Given the description of an element on the screen output the (x, y) to click on. 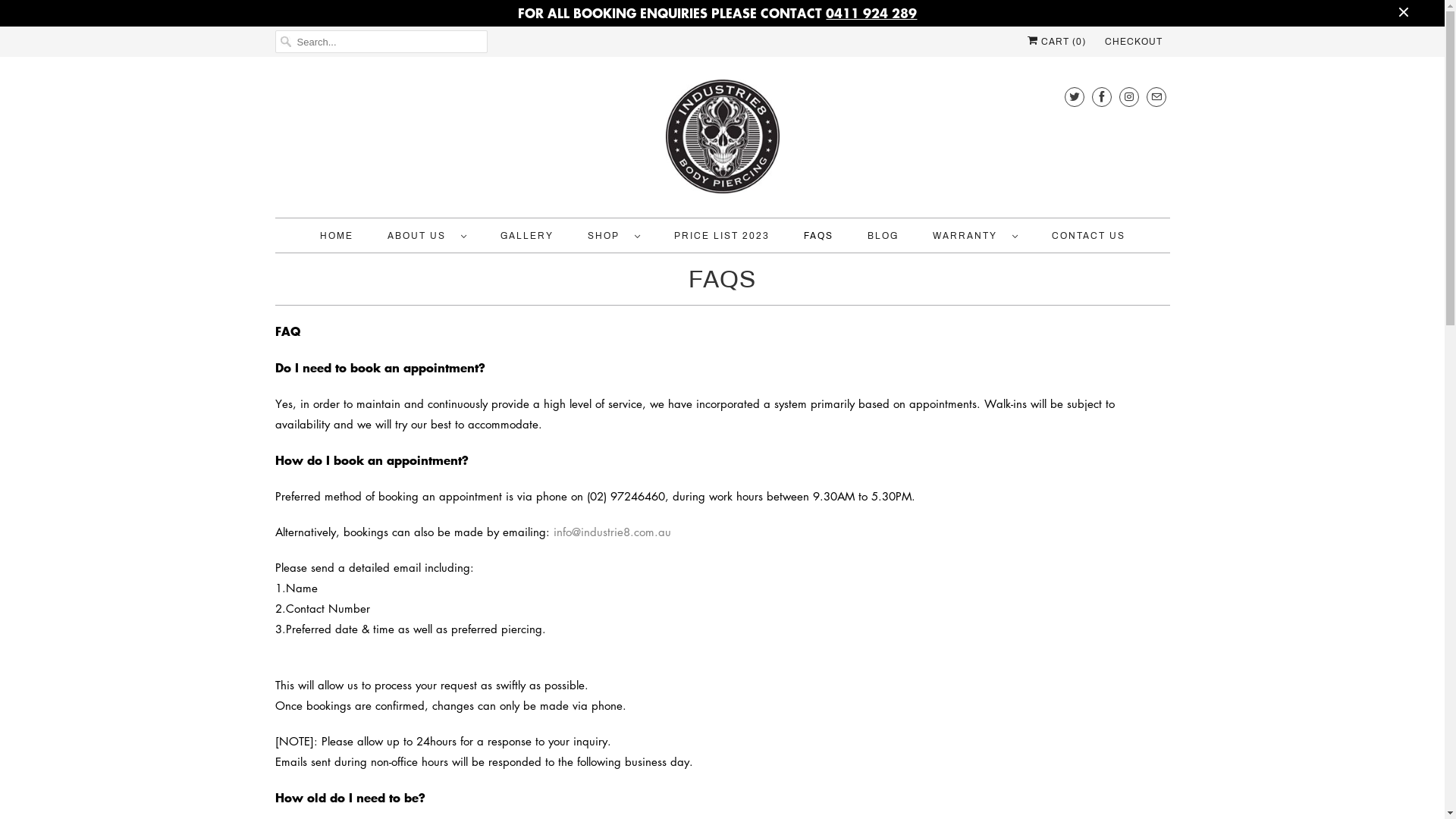
SHOP  Element type: text (612, 235)
HOME Element type: text (336, 235)
INDUSTRIE8 BODY PIERCING Element type: hover (721, 140)
ABOUT US  Element type: text (425, 235)
INDUSTRIE8 BODY PIERCING on Facebook Element type: hover (1101, 96)
CONTACT US Element type: text (1087, 235)
FAQS Element type: text (818, 235)
info@industrie8.com.au Element type: text (612, 531)
FOR ALL BOOKING ENQUIRIES PLEASE CONTACT 0411 924 289 Element type: text (717, 13)
INDUSTRIE8 BODY PIERCING on Instagram Element type: hover (1129, 96)
WARRANTY  Element type: text (974, 235)
PRICE LIST 2023 Element type: text (720, 235)
BLOG Element type: text (882, 235)
CART (0) Element type: text (1055, 41)
Email INDUSTRIE8 BODY PIERCING Element type: hover (1156, 96)
CHECKOUT Element type: text (1132, 41)
GALLERY Element type: text (526, 235)
INDUSTRIE8 BODY PIERCING on Twitter Element type: hover (1074, 96)
